Given the description of an element on the screen output the (x, y) to click on. 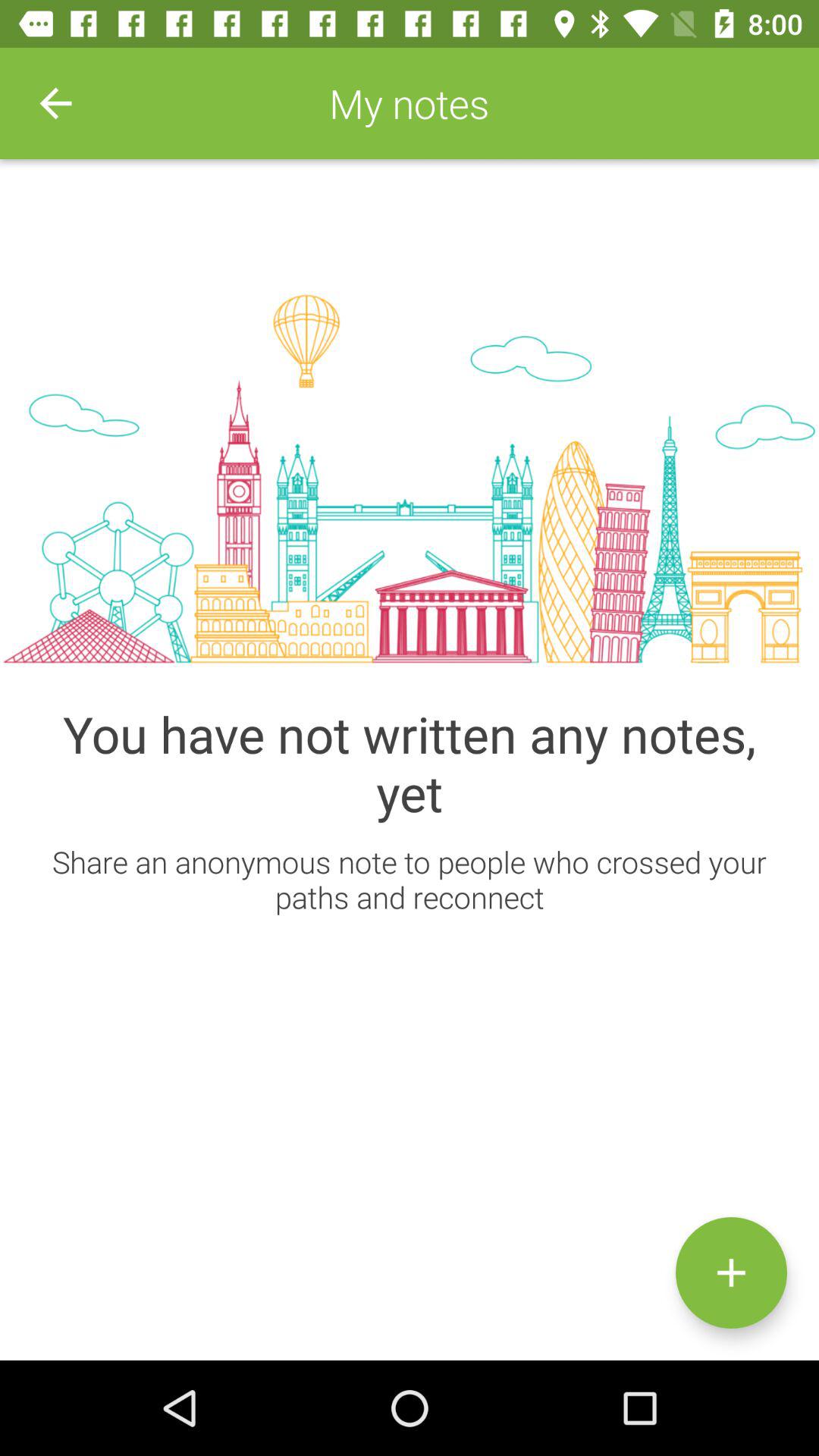
start new note (731, 1272)
